Given the description of an element on the screen output the (x, y) to click on. 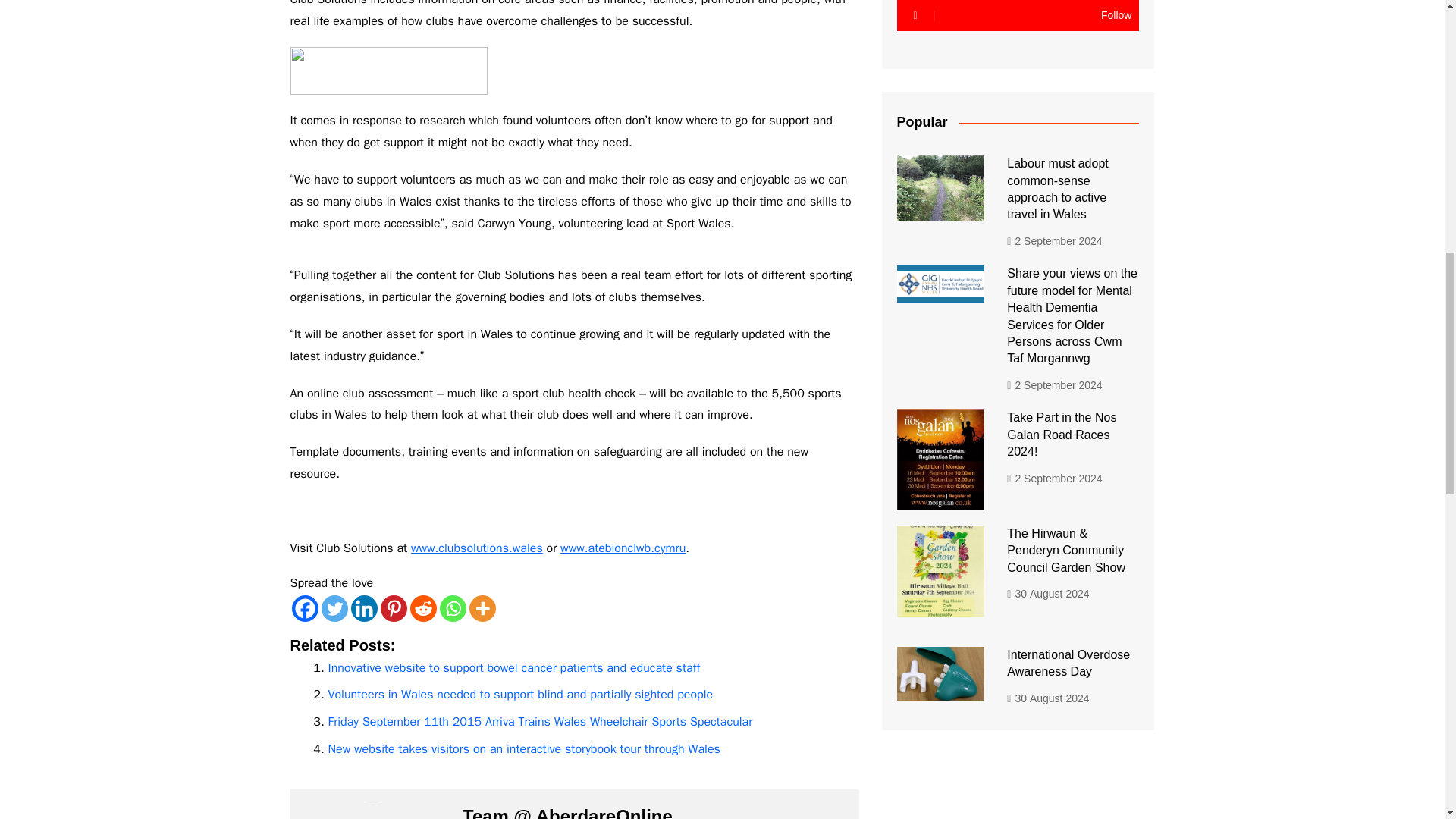
Pinterest (393, 608)
Linkedin (363, 608)
Reddit (422, 608)
More (481, 608)
www.atebionclwb.cymru (622, 547)
